Given the description of an element on the screen output the (x, y) to click on. 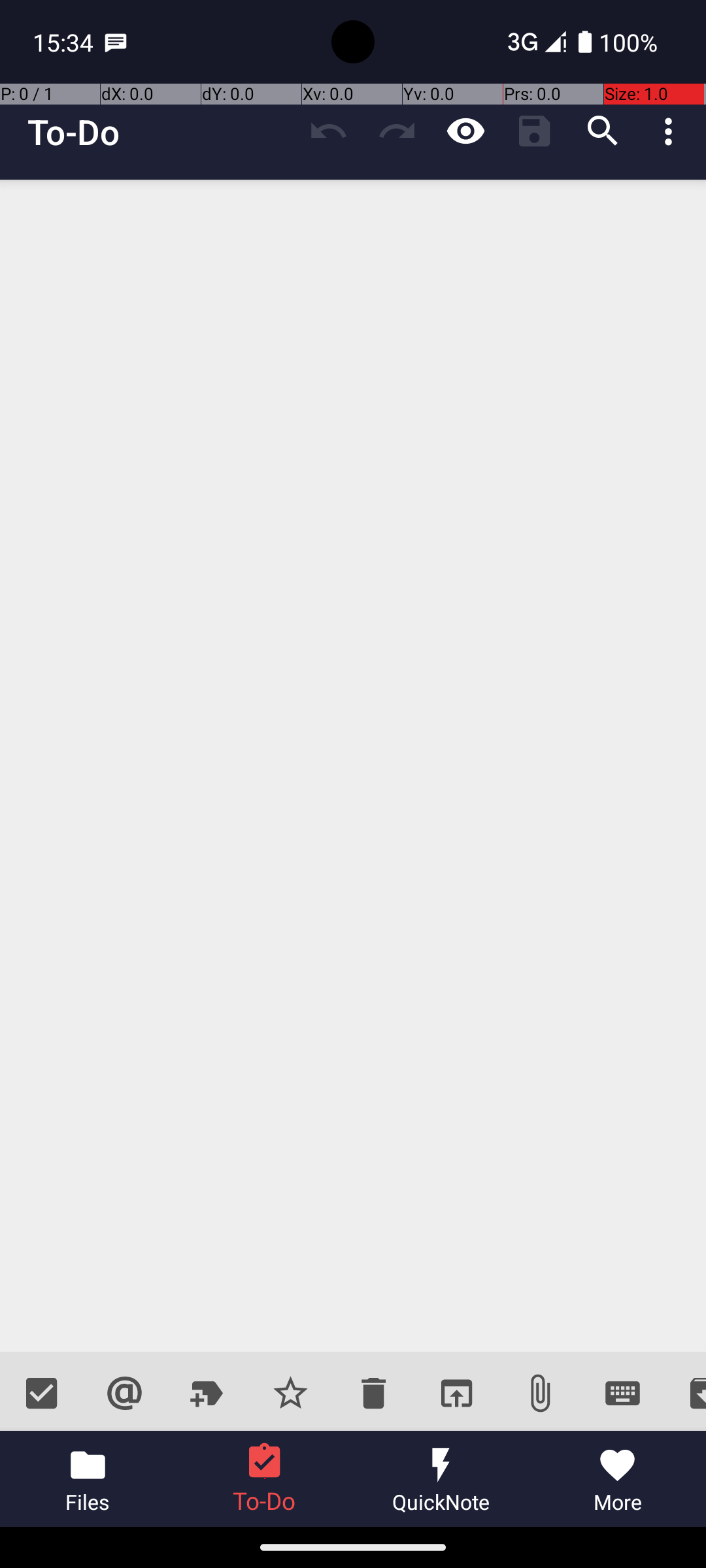
To-Do Element type: android.widget.TextView (73, 131)
QuickNote Element type: android.widget.FrameLayout (441, 1478)
More Element type: android.widget.FrameLayout (617, 1478)
Toggle done Element type: android.widget.ImageView (41, 1392)
Add context Element type: android.widget.ImageView (124, 1392)
Add project Element type: android.widget.ImageView (207, 1392)
Priority Element type: android.widget.ImageView (290, 1392)
Archive completed tasks Element type: android.widget.ImageView (685, 1392)
